Given the description of an element on the screen output the (x, y) to click on. 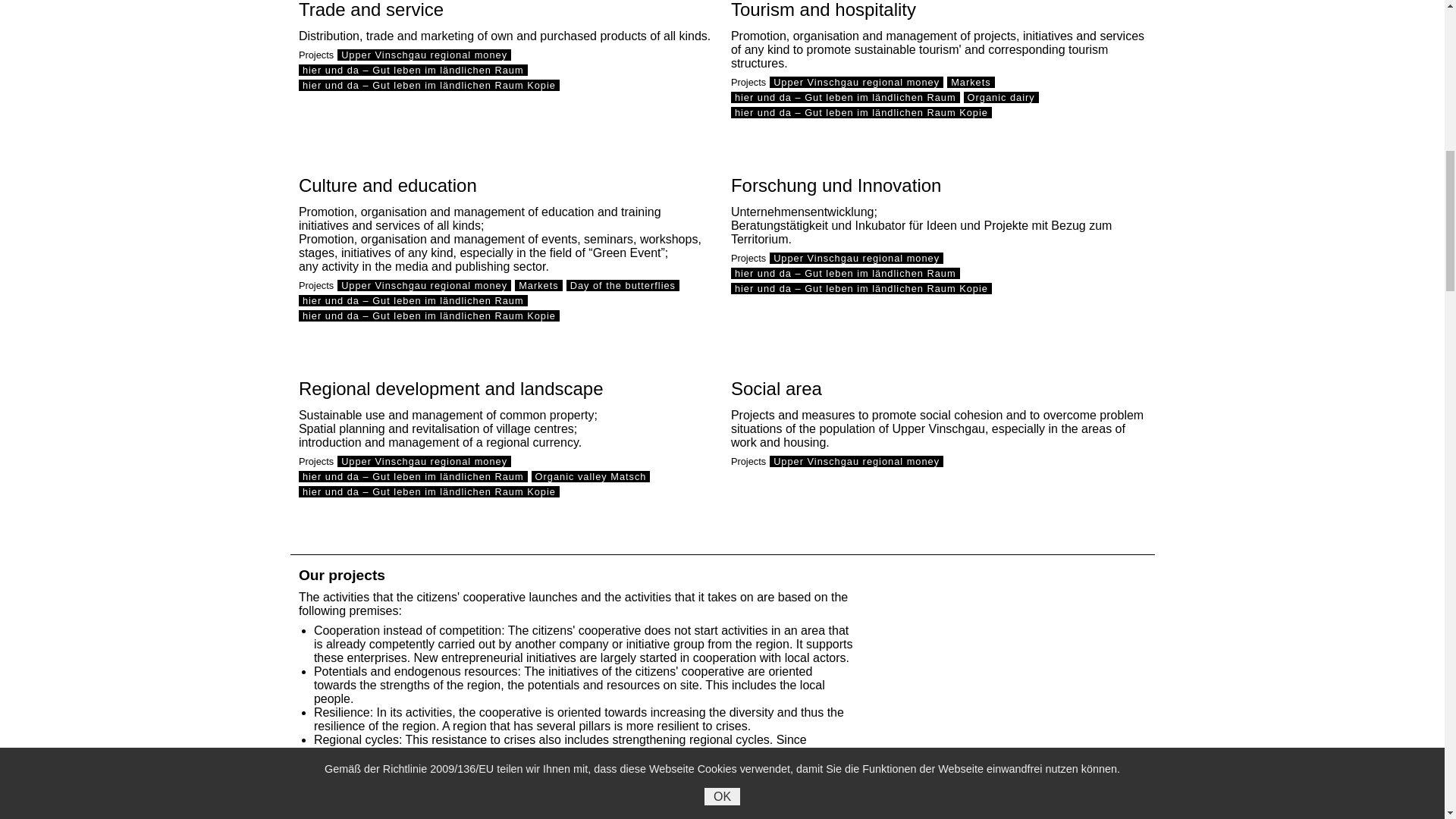
Markets (970, 81)
Markets (538, 285)
Day of the butterflies (622, 285)
Upper Vinschgau regional money (424, 54)
Upper Vinschgau regional money (856, 81)
Upper Vinschgau regional money (856, 257)
Organic dairy (1001, 97)
Upper Vinschgau regional money (424, 285)
